Given the description of an element on the screen output the (x, y) to click on. 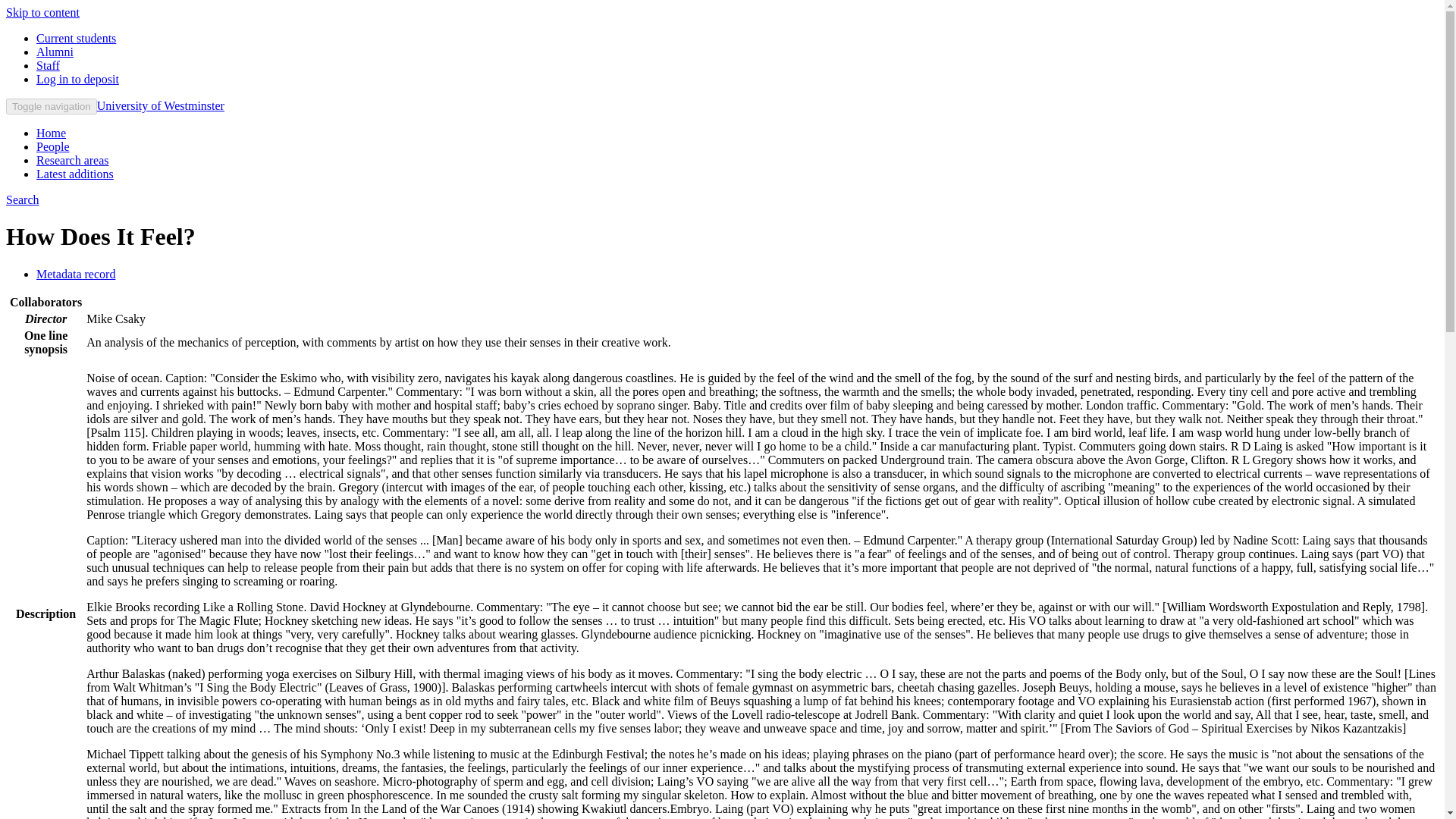
Current students (76, 38)
Search (22, 199)
Skip to content (42, 11)
Staff (47, 65)
Latest additions (74, 173)
Log in to deposit (77, 78)
People (52, 146)
Toggle navigation (51, 106)
Metadata record (75, 273)
Research areas (72, 160)
